Given the description of an element on the screen output the (x, y) to click on. 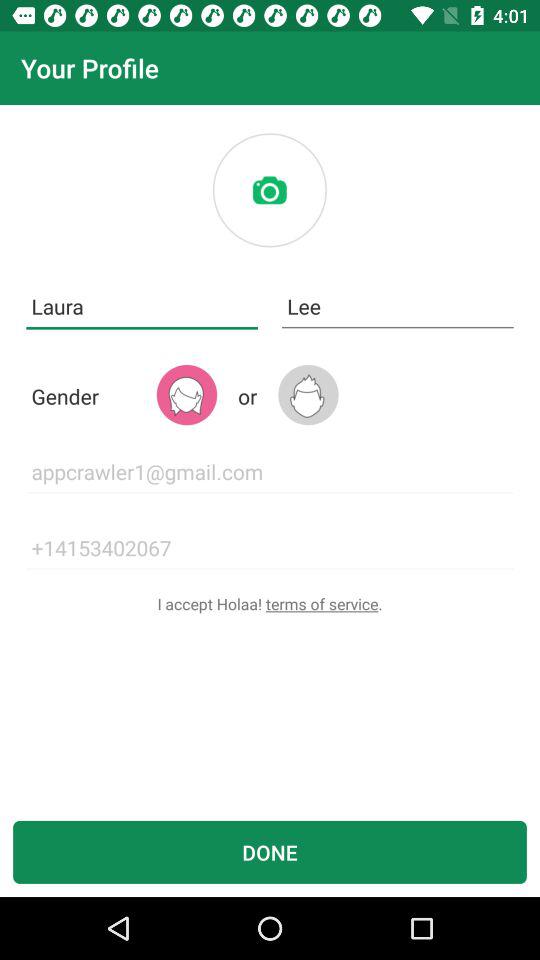
turn on the item to the right of laura (397, 306)
